Given the description of an element on the screen output the (x, y) to click on. 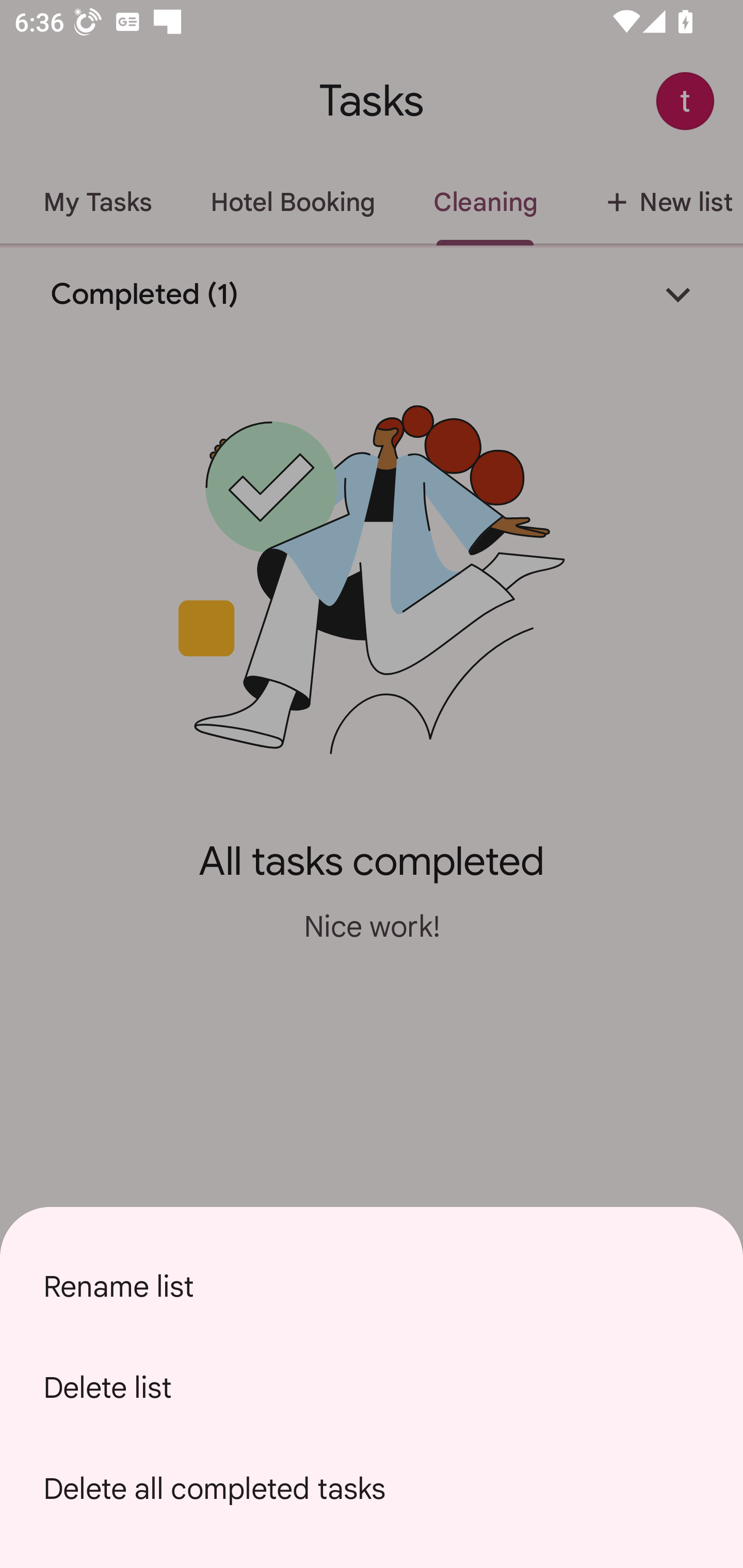
Rename list (371, 1286)
Delete list (371, 1387)
Delete all completed tasks (371, 1488)
